Given the description of an element on the screen output the (x, y) to click on. 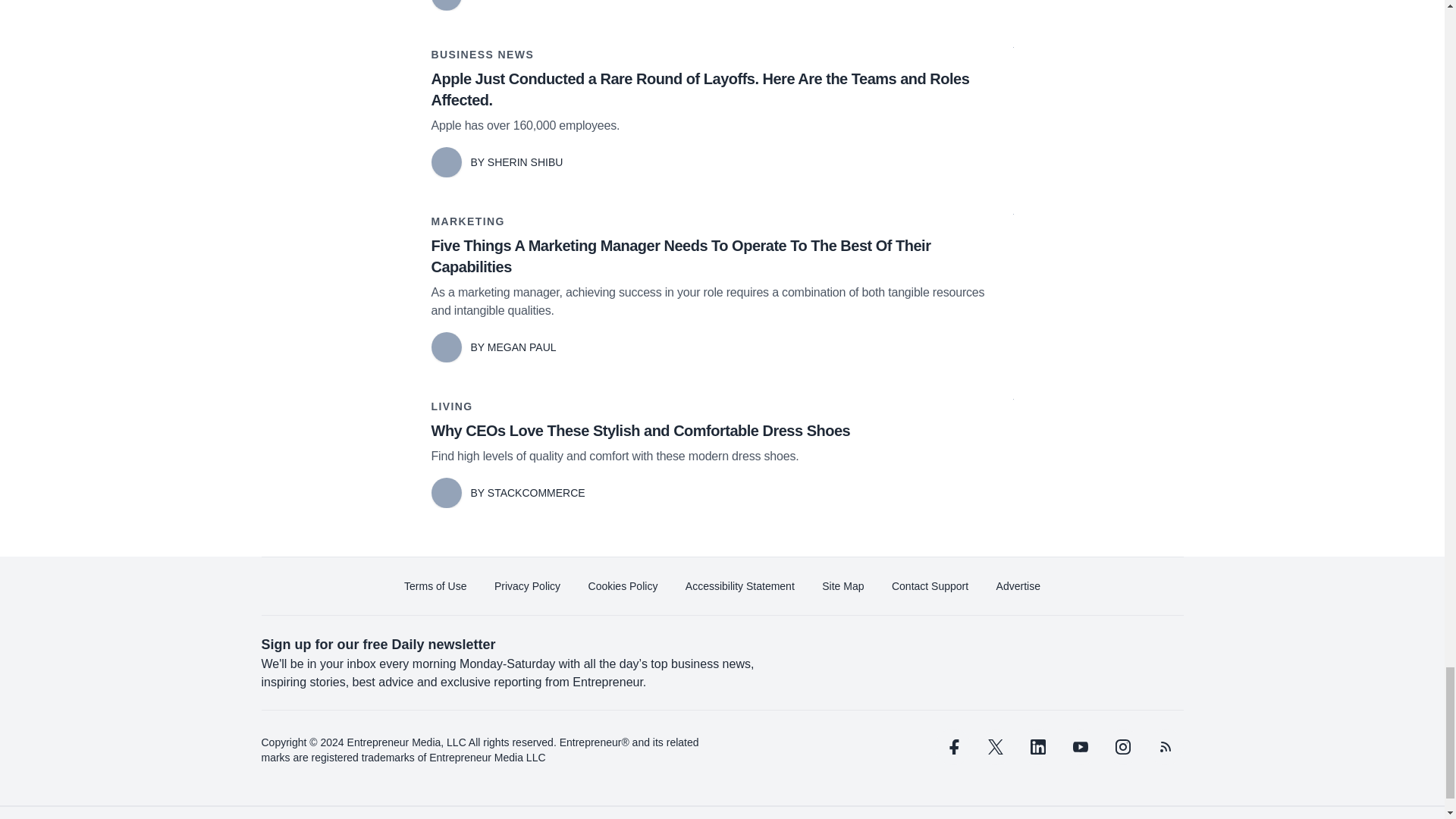
rss (1164, 746)
linkedin (1037, 746)
facebook (952, 746)
twitter (994, 746)
youtube (1079, 746)
instagram (1121, 746)
